Given the description of an element on the screen output the (x, y) to click on. 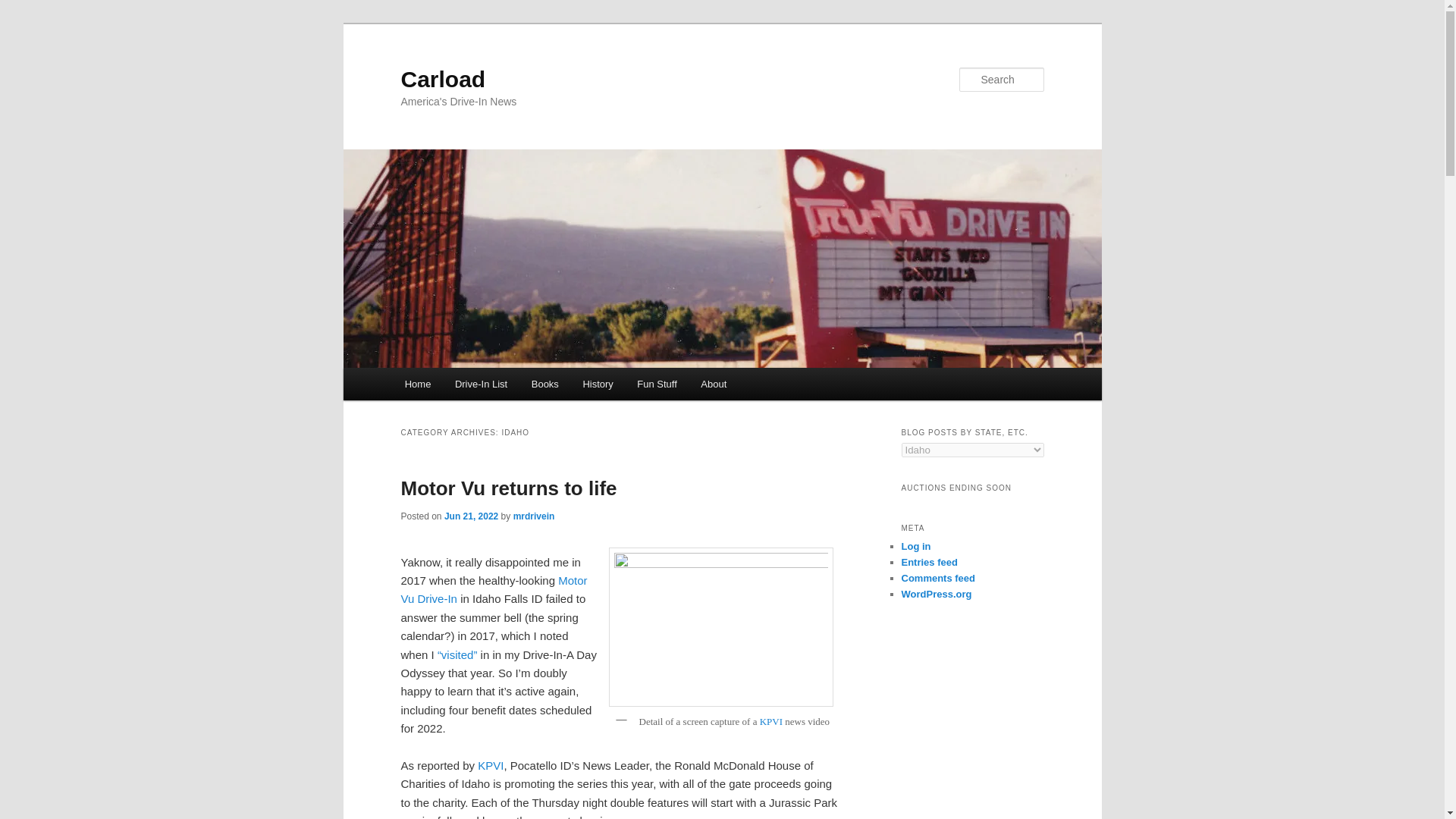
Search (24, 8)
About (713, 383)
mrdrivein (533, 516)
Drive-In List (480, 383)
KPVI (771, 721)
Motor Vu returns to life (507, 487)
Motor Vu Drive-In (493, 589)
4:38 pm (470, 516)
Home (417, 383)
Carload (442, 78)
History (598, 383)
Books (544, 383)
Fun Stuff (657, 383)
Jun 21, 2022 (470, 516)
